Given the description of an element on the screen output the (x, y) to click on. 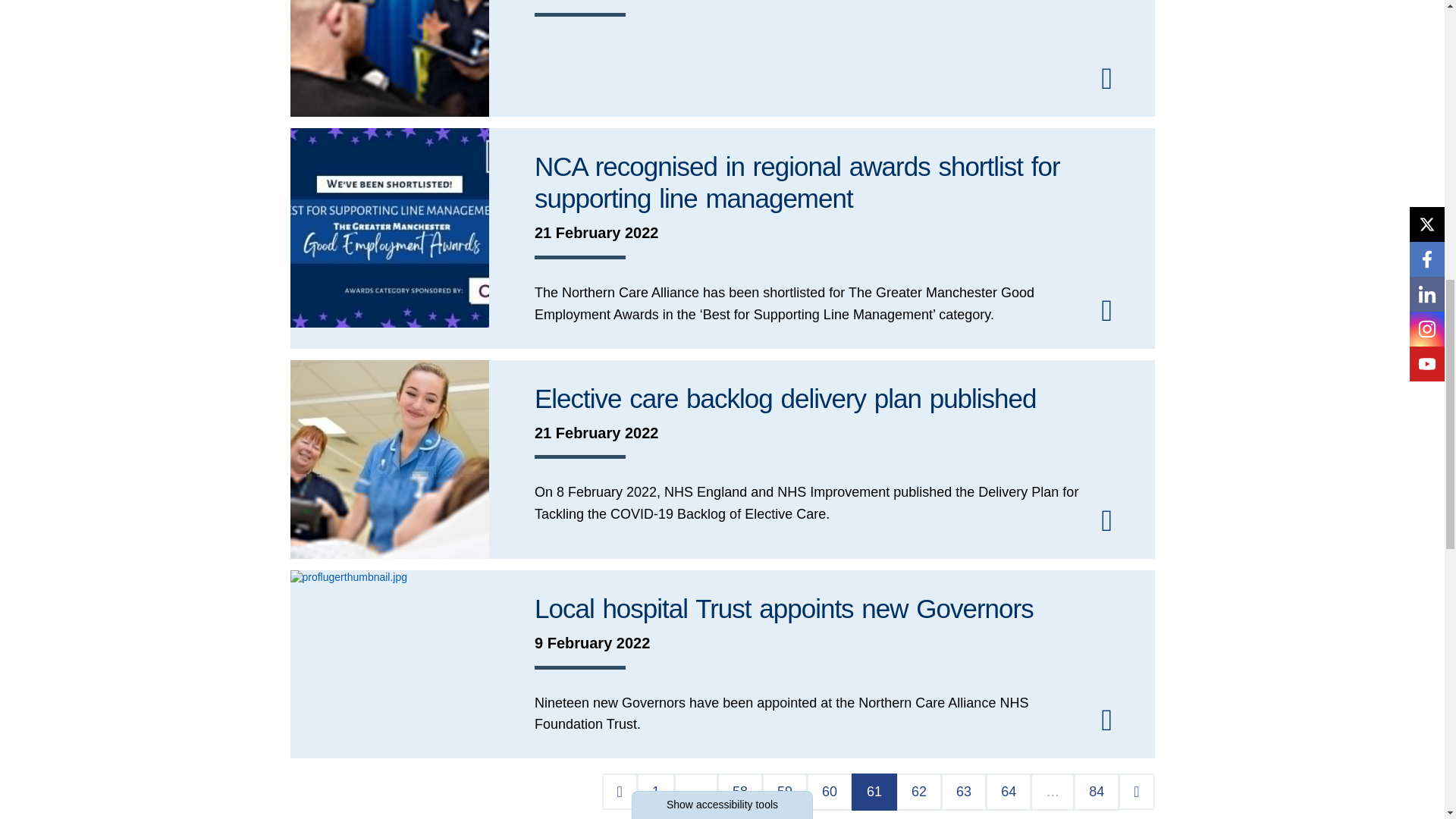
Visiting Restrictions Lifted (721, 58)
